Given the description of an element on the screen output the (x, y) to click on. 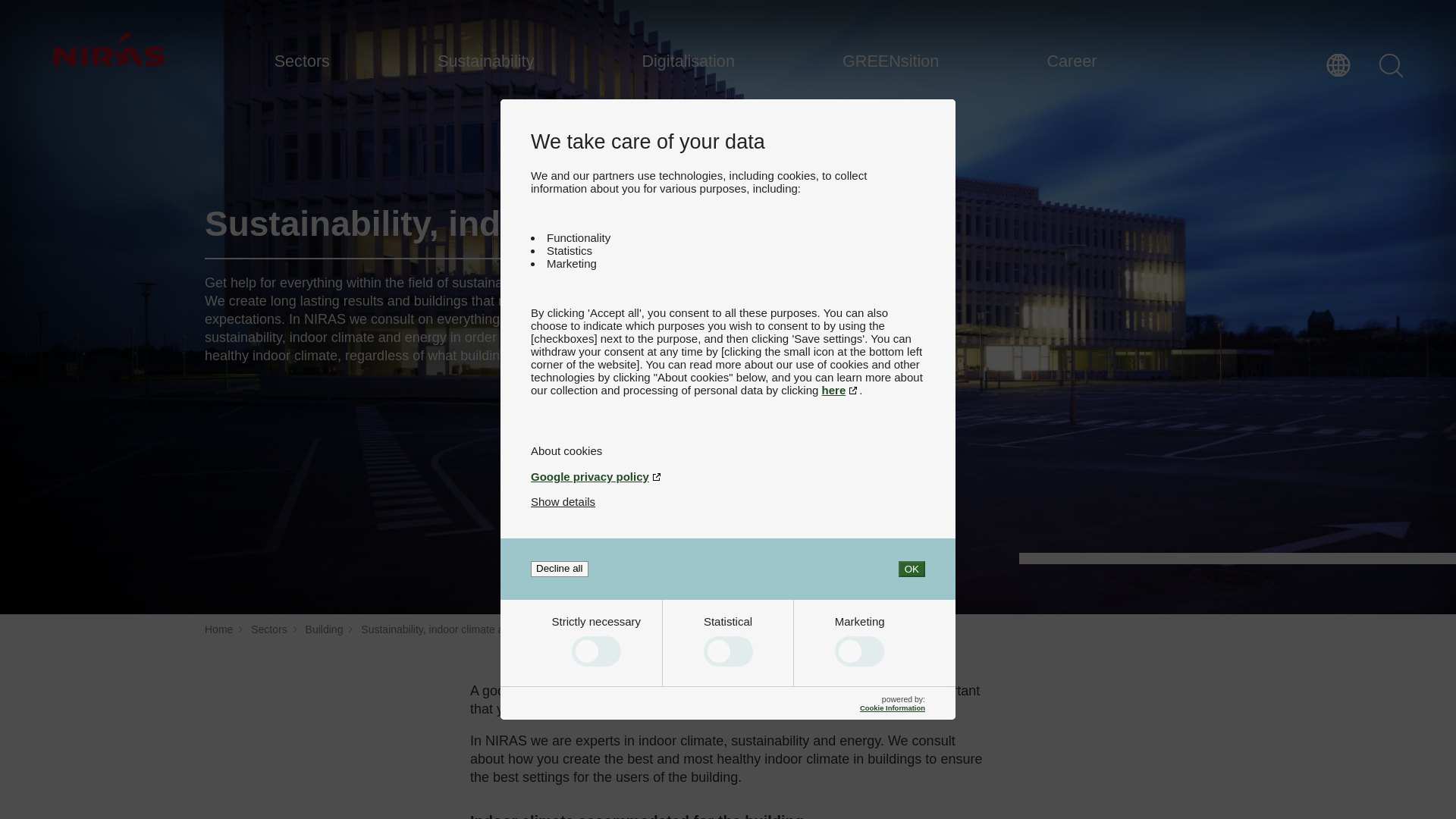
Cookie Information (892, 707)
Decline all (559, 569)
About cookies (727, 450)
OK (911, 569)
here (841, 390)
Show details (563, 501)
Google privacy policy (727, 476)
